Given the description of an element on the screen output the (x, y) to click on. 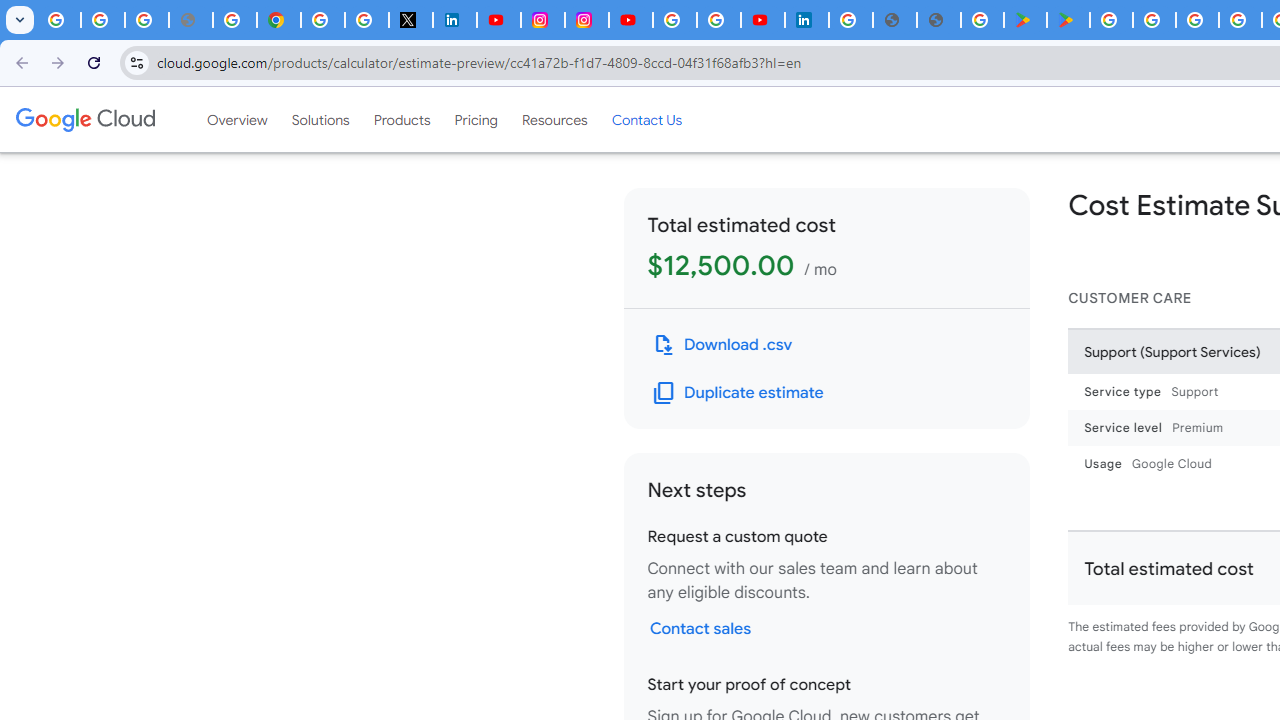
Download .csv file (722, 344)
Resources (553, 119)
Contact Us (646, 119)
Pricing (476, 119)
X (410, 20)
Android Apps on Google Play (1025, 20)
Duplicate this estimate (738, 392)
Contact sales (699, 628)
PAW Patrol Rescue World - Apps on Google Play (1068, 20)
